Given the description of an element on the screen output the (x, y) to click on. 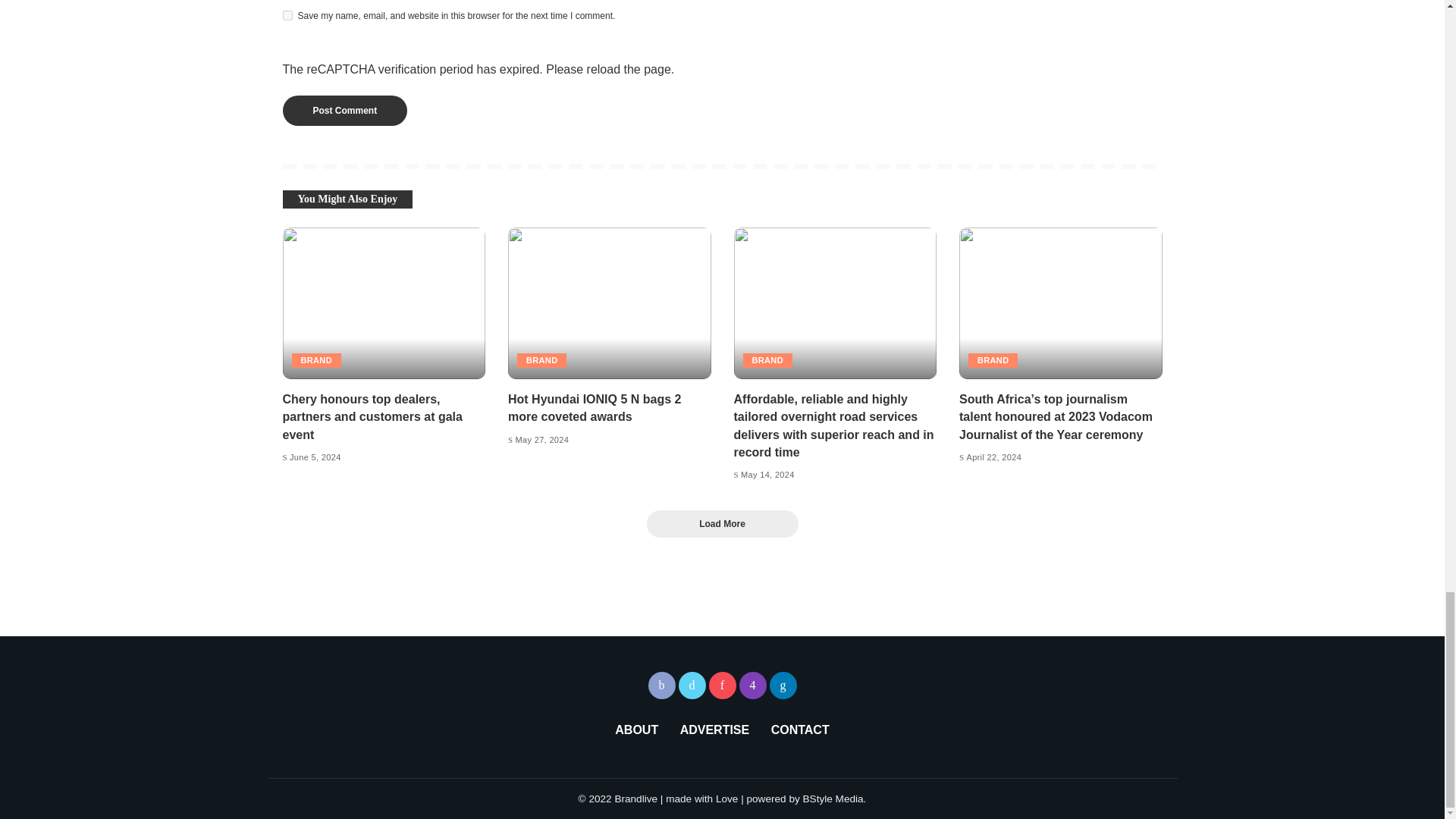
Post Comment (344, 110)
yes (287, 15)
